Given the description of an element on the screen output the (x, y) to click on. 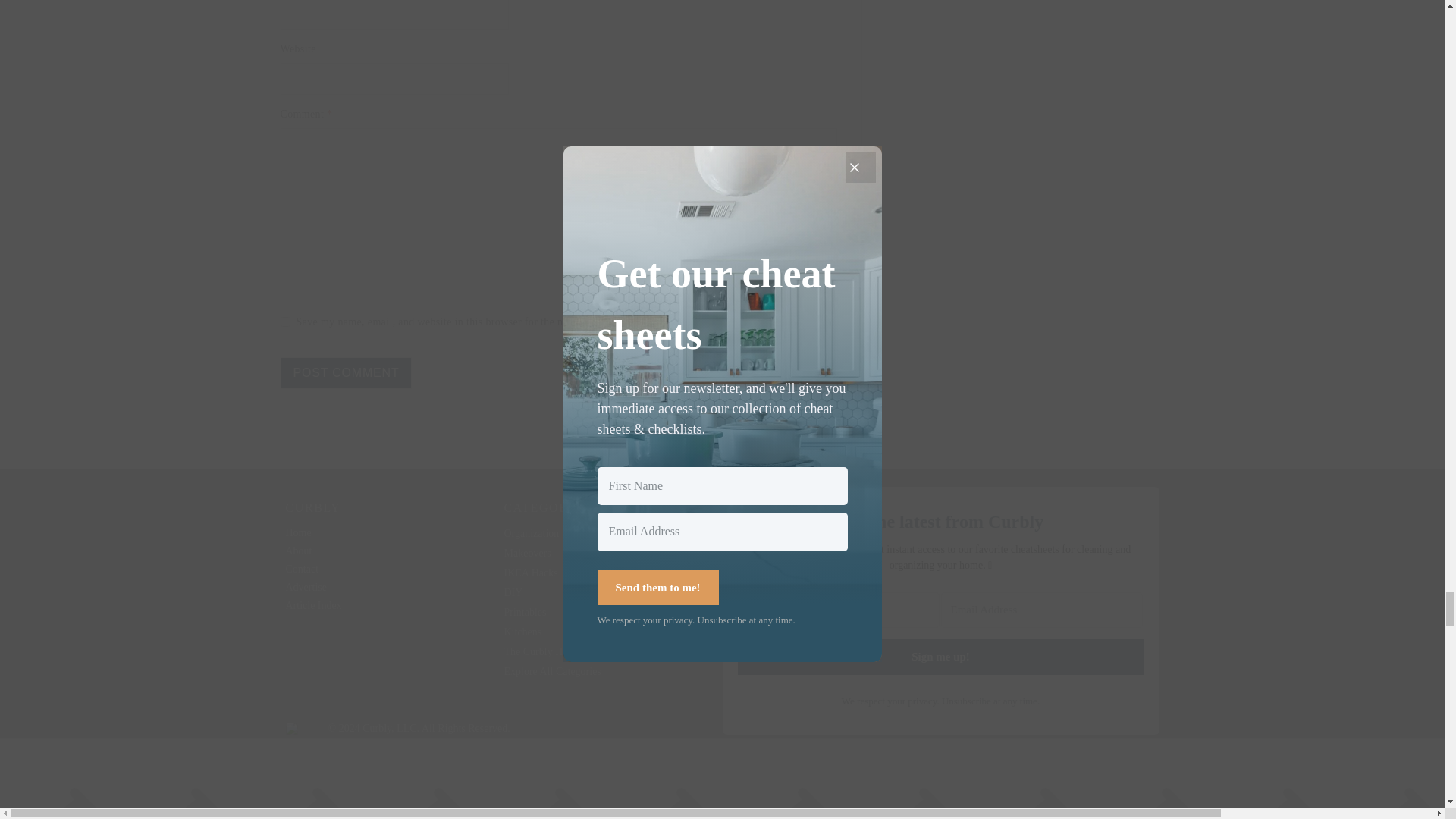
yes (285, 321)
Post Comment (346, 373)
